Given the description of an element on the screen output the (x, y) to click on. 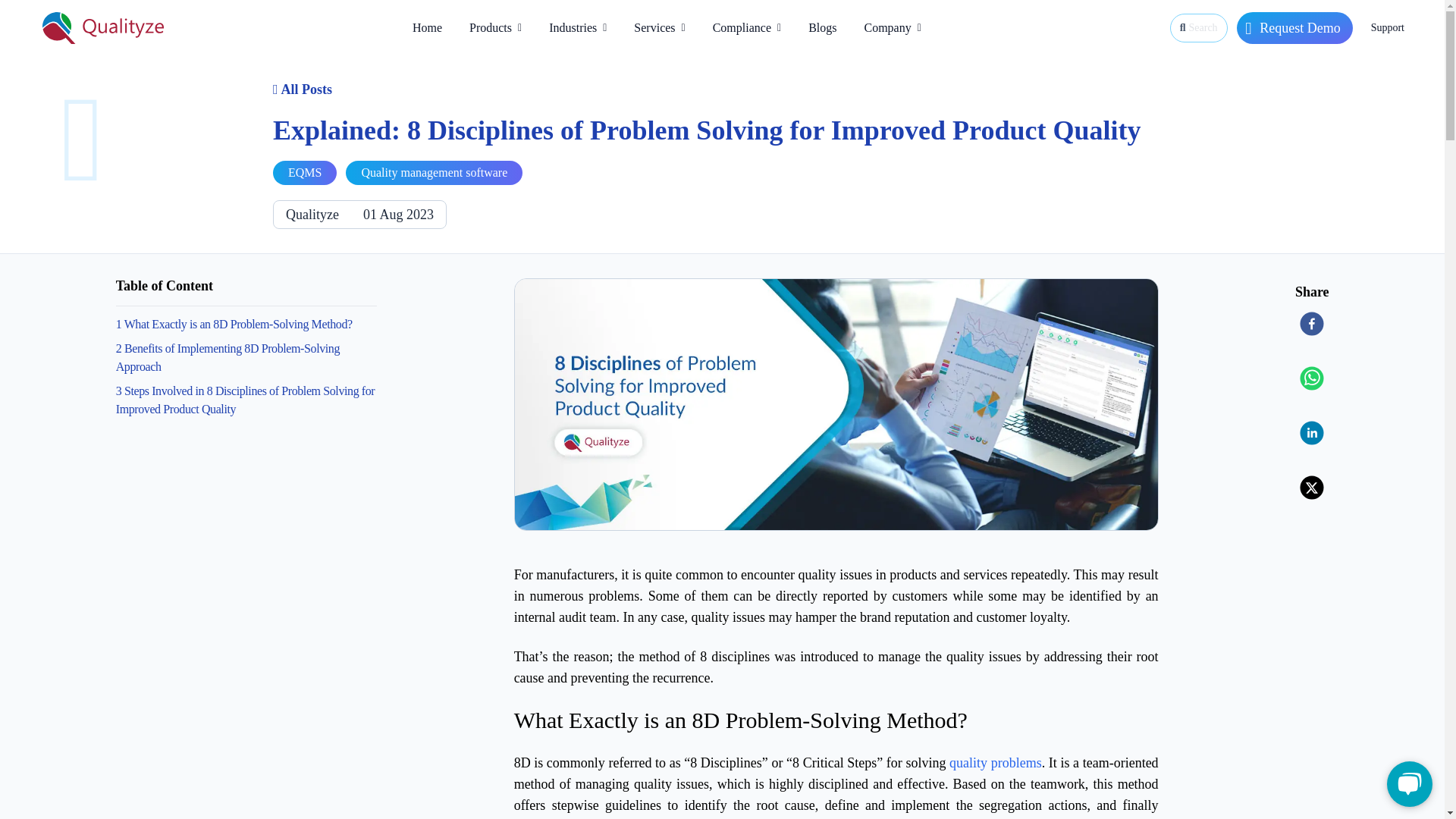
All Posts (302, 88)
Company (892, 27)
Products (495, 27)
Home (427, 27)
Services (659, 27)
Quality management software (434, 172)
1 What Exactly is an 8D Problem-Solving Method? (246, 324)
quality problems (995, 762)
What Exactly is an 8D Problem-Solving Method? (835, 719)
Search (1198, 27)
Blogs (822, 27)
EQMS (304, 172)
Industries (577, 27)
